Given the description of an element on the screen output the (x, y) to click on. 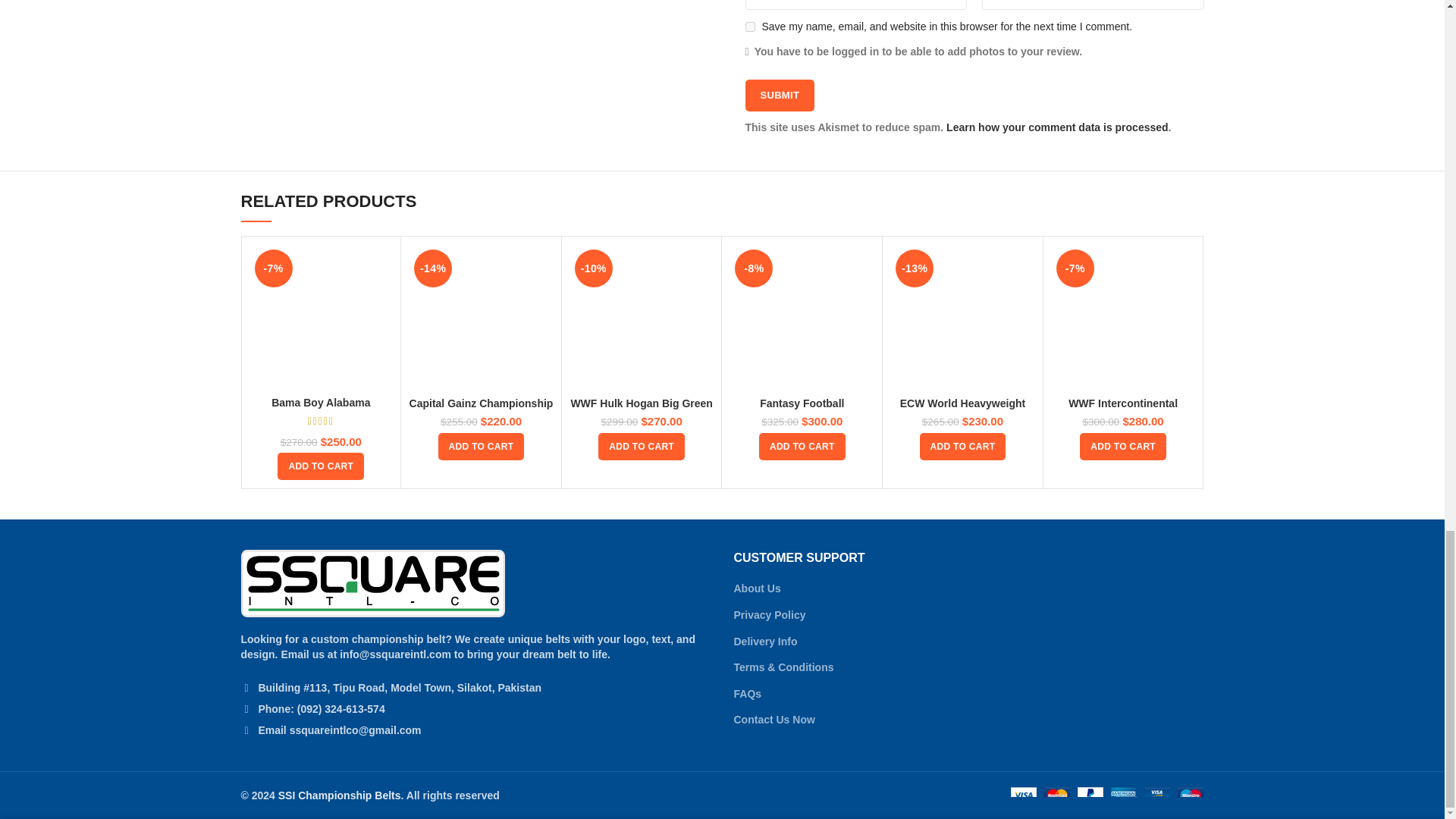
yes (749, 26)
Submit (778, 95)
